Given the description of an element on the screen output the (x, y) to click on. 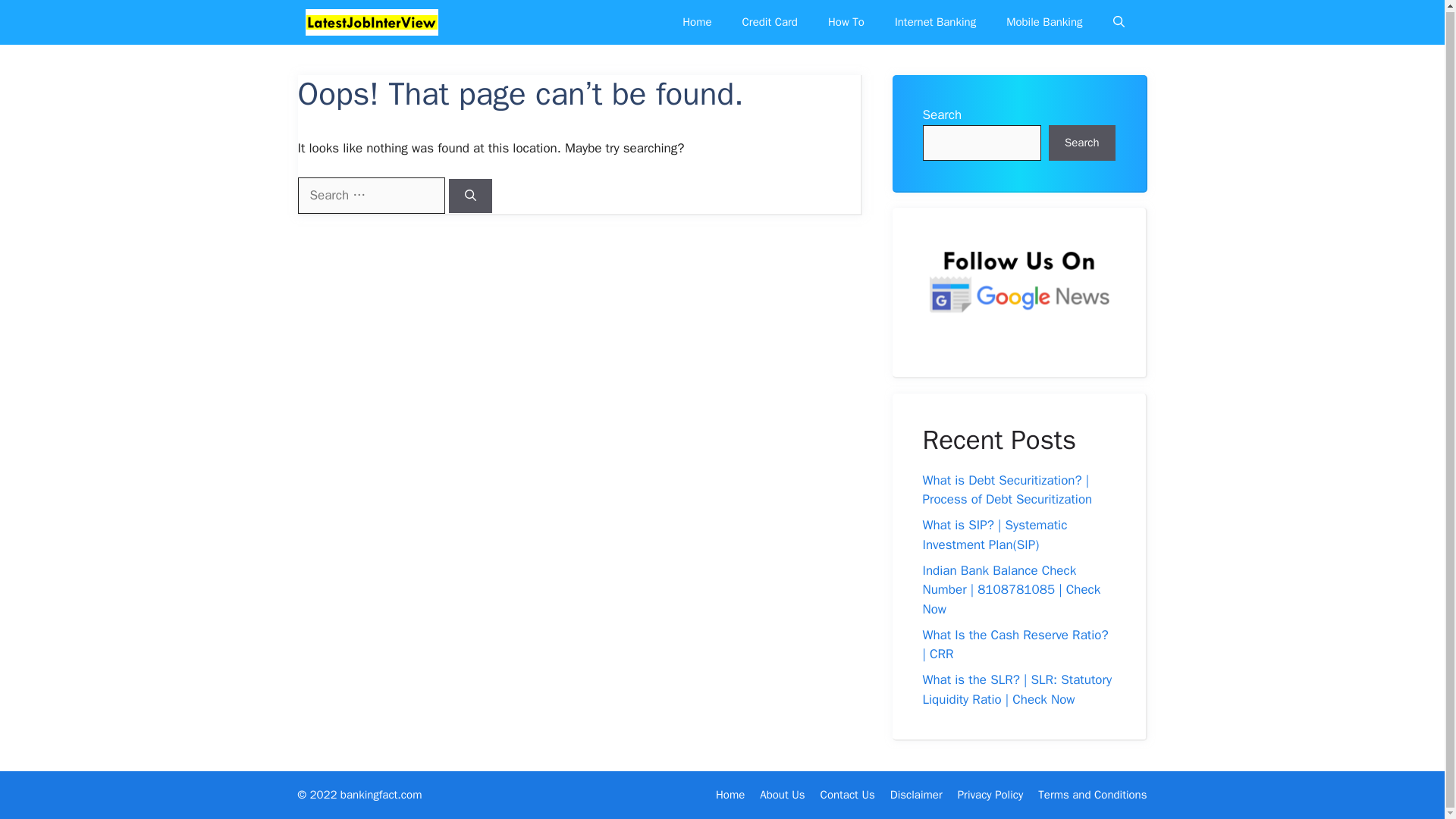
Home (730, 794)
Privacy Policy (990, 794)
Terms and Conditions (1092, 794)
Search (1081, 143)
Home (696, 22)
Contact Us (848, 794)
About Us (782, 794)
Search for: (370, 195)
Disclaimer (915, 794)
Mobile Banking (1044, 22)
Internet Banking (935, 22)
latestjobinterview.in (371, 21)
How To (845, 22)
Credit Card (769, 22)
